Given the description of an element on the screen output the (x, y) to click on. 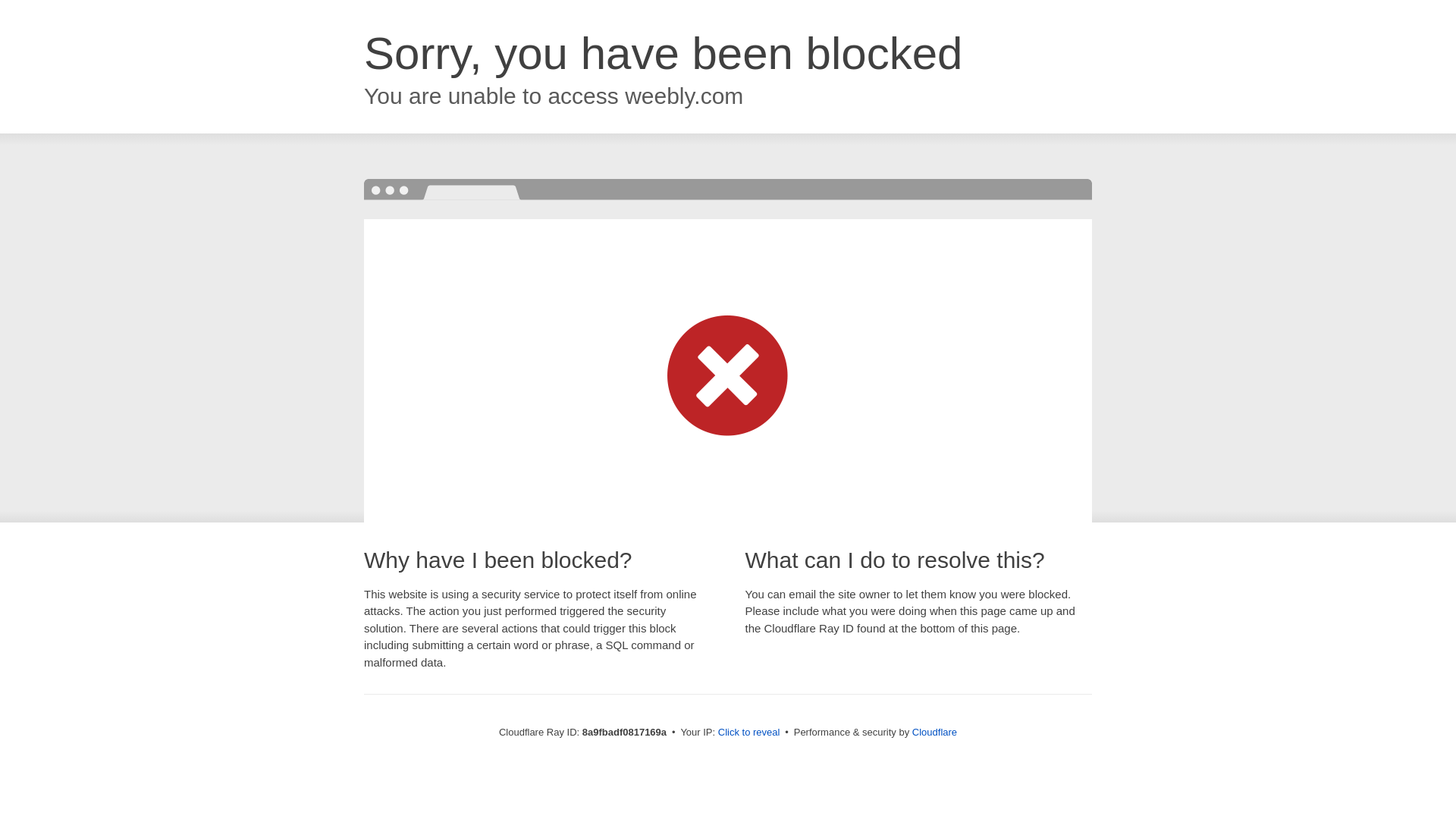
Click to reveal (748, 732)
Cloudflare (934, 731)
